Given the description of an element on the screen output the (x, y) to click on. 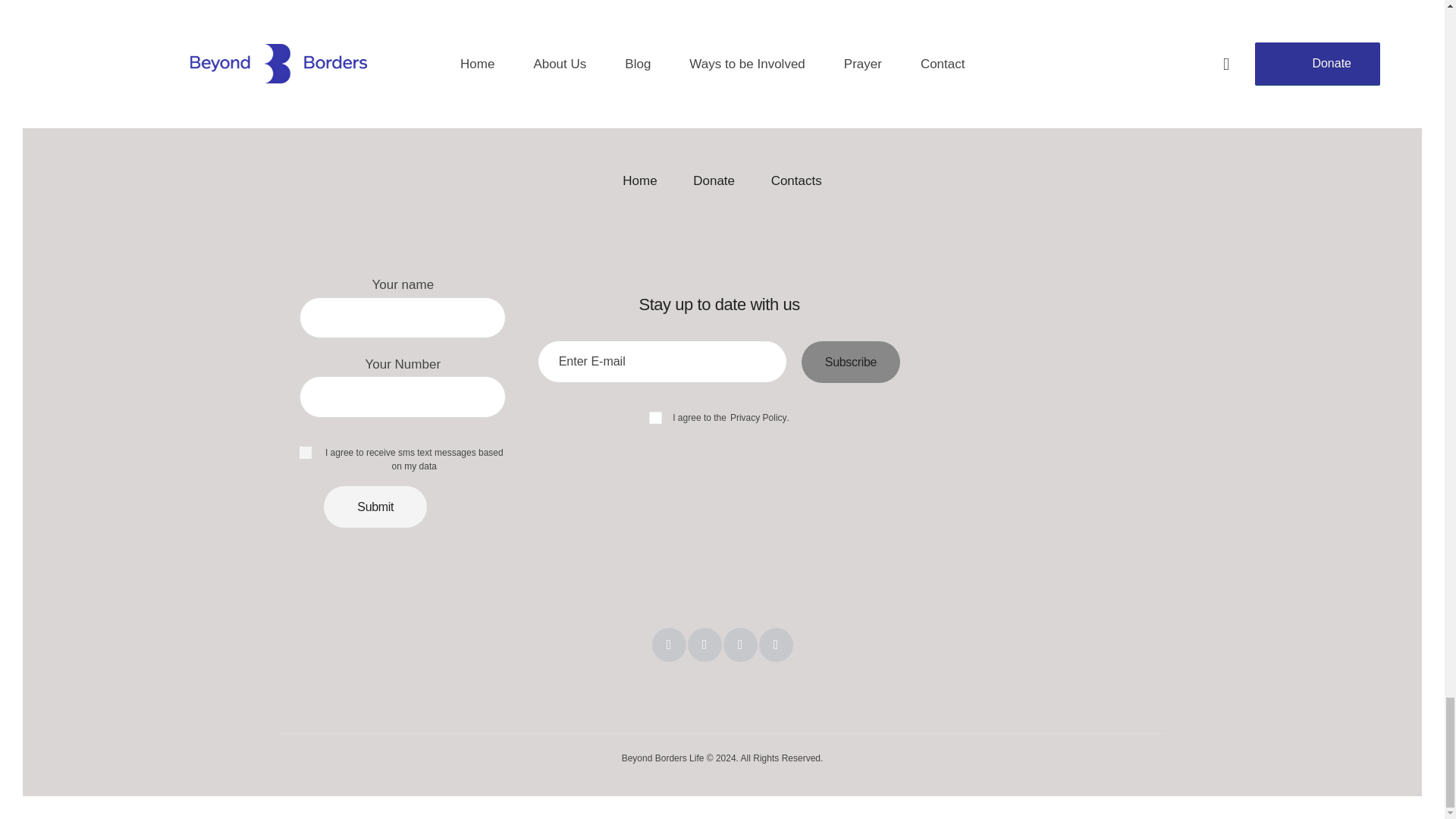
Subscribe (850, 362)
1 (791, 346)
Submit (374, 506)
1 (303, 450)
